Given the description of an element on the screen output the (x, y) to click on. 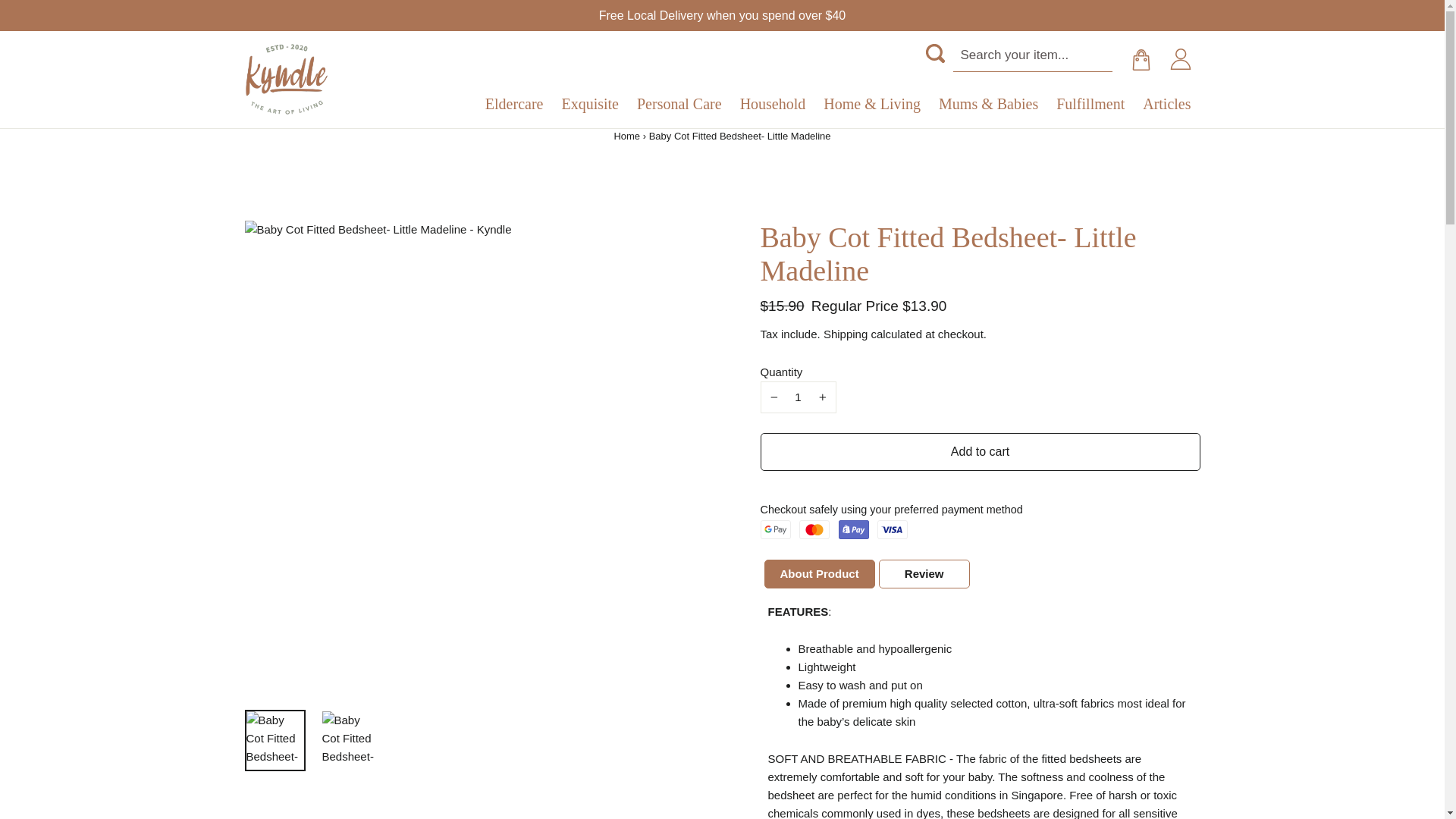
1 (797, 397)
Home (626, 135)
